Given the description of an element on the screen output the (x, y) to click on. 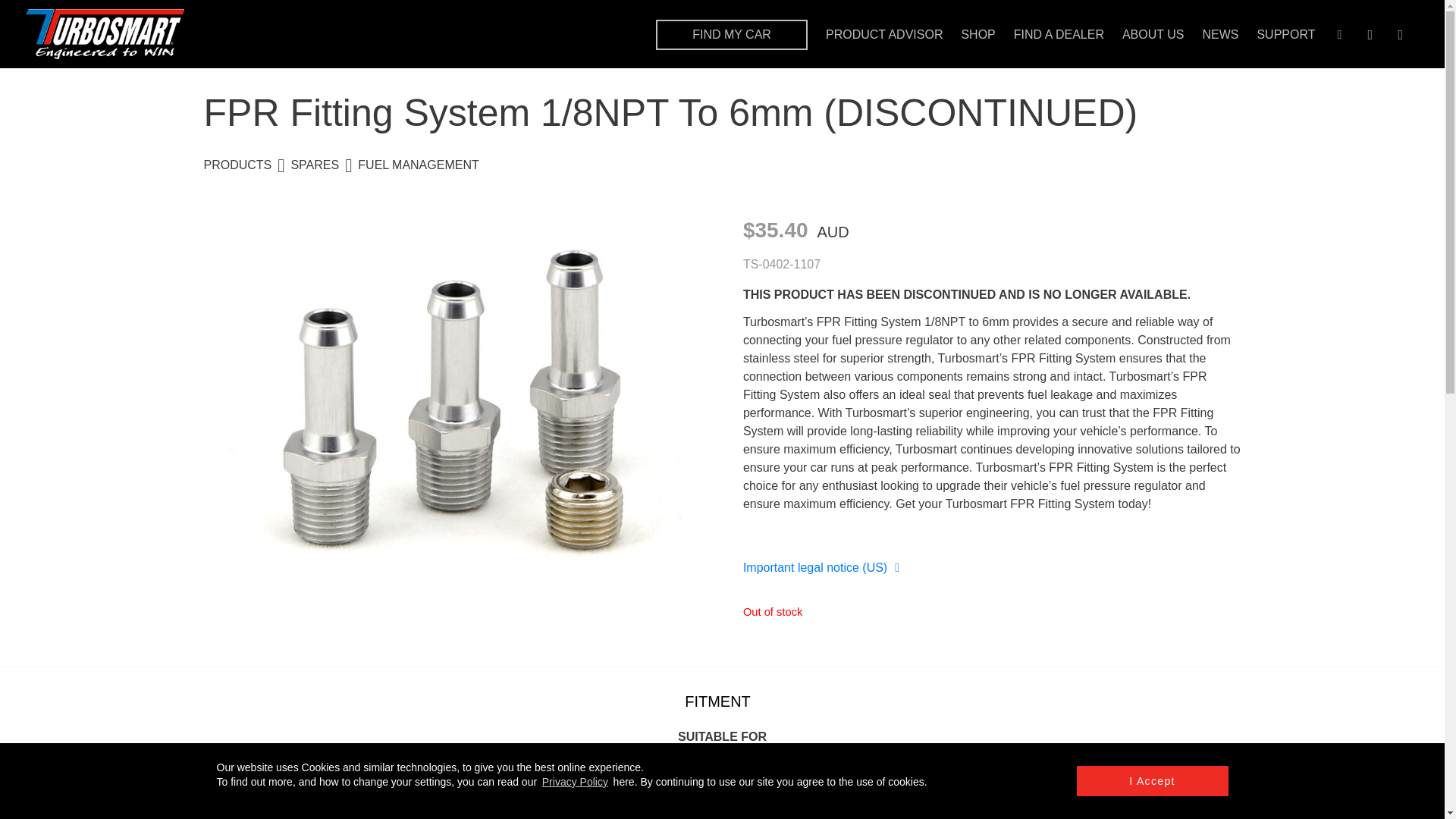
PRODUCTS (236, 165)
SUPPORT (1285, 33)
Privacy Policy (575, 781)
ABOUT US (1153, 33)
Search (1230, 90)
SHOP (977, 33)
NEWS (1220, 33)
FUEL MANAGEMENT  (410, 165)
FIND MY CAR (732, 34)
FIND A DEALER (1058, 33)
PRODUCT ADVISOR (883, 33)
I Accept (1152, 780)
SPARES (304, 165)
